Given the description of an element on the screen output the (x, y) to click on. 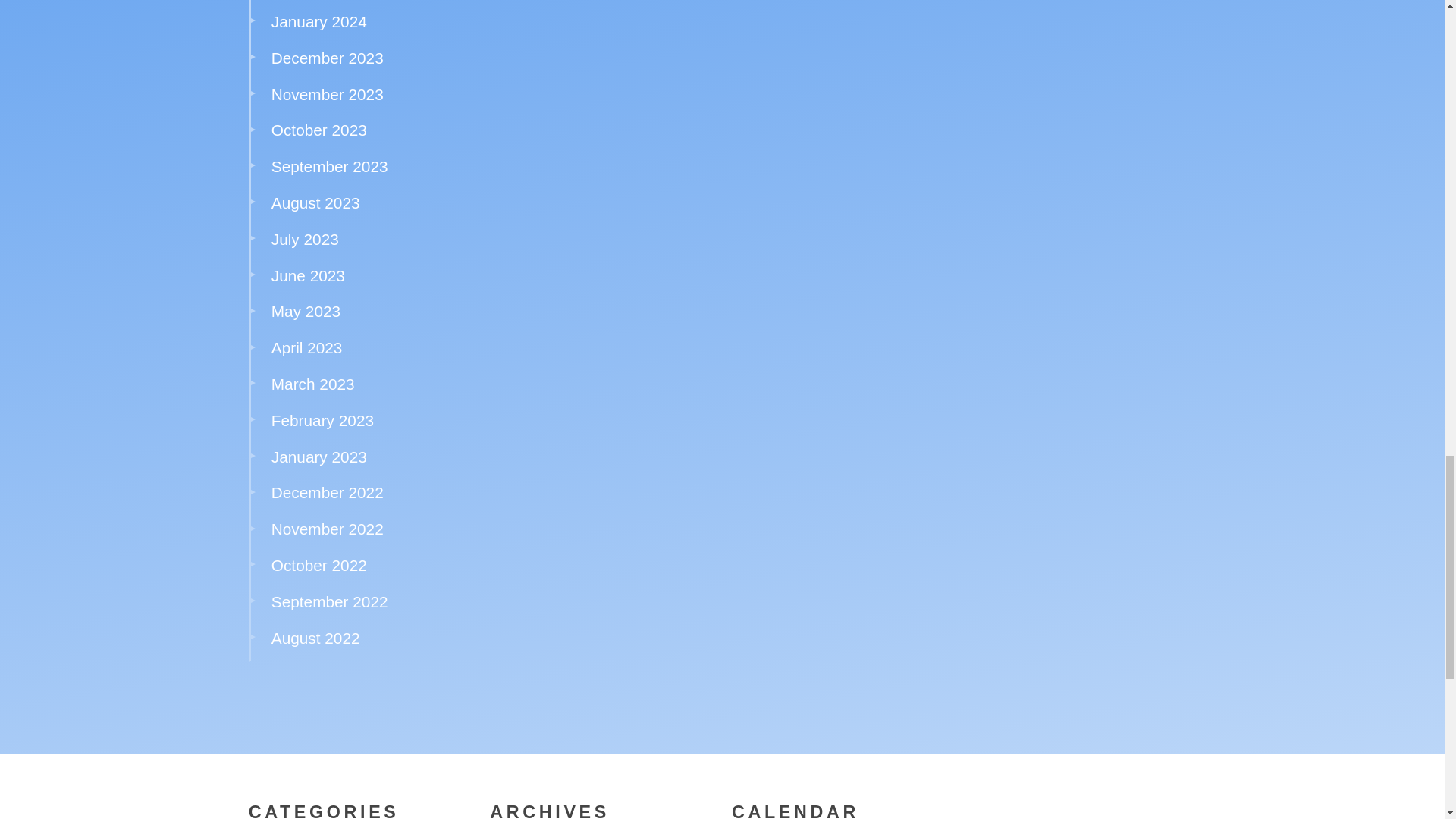
May 2023 (305, 311)
August 2023 (314, 202)
January 2023 (318, 456)
December 2023 (327, 57)
February 2023 (322, 420)
October 2023 (318, 129)
November 2023 (327, 93)
September 2023 (329, 166)
July 2023 (304, 239)
January 2024 (318, 21)
